Given the description of an element on the screen output the (x, y) to click on. 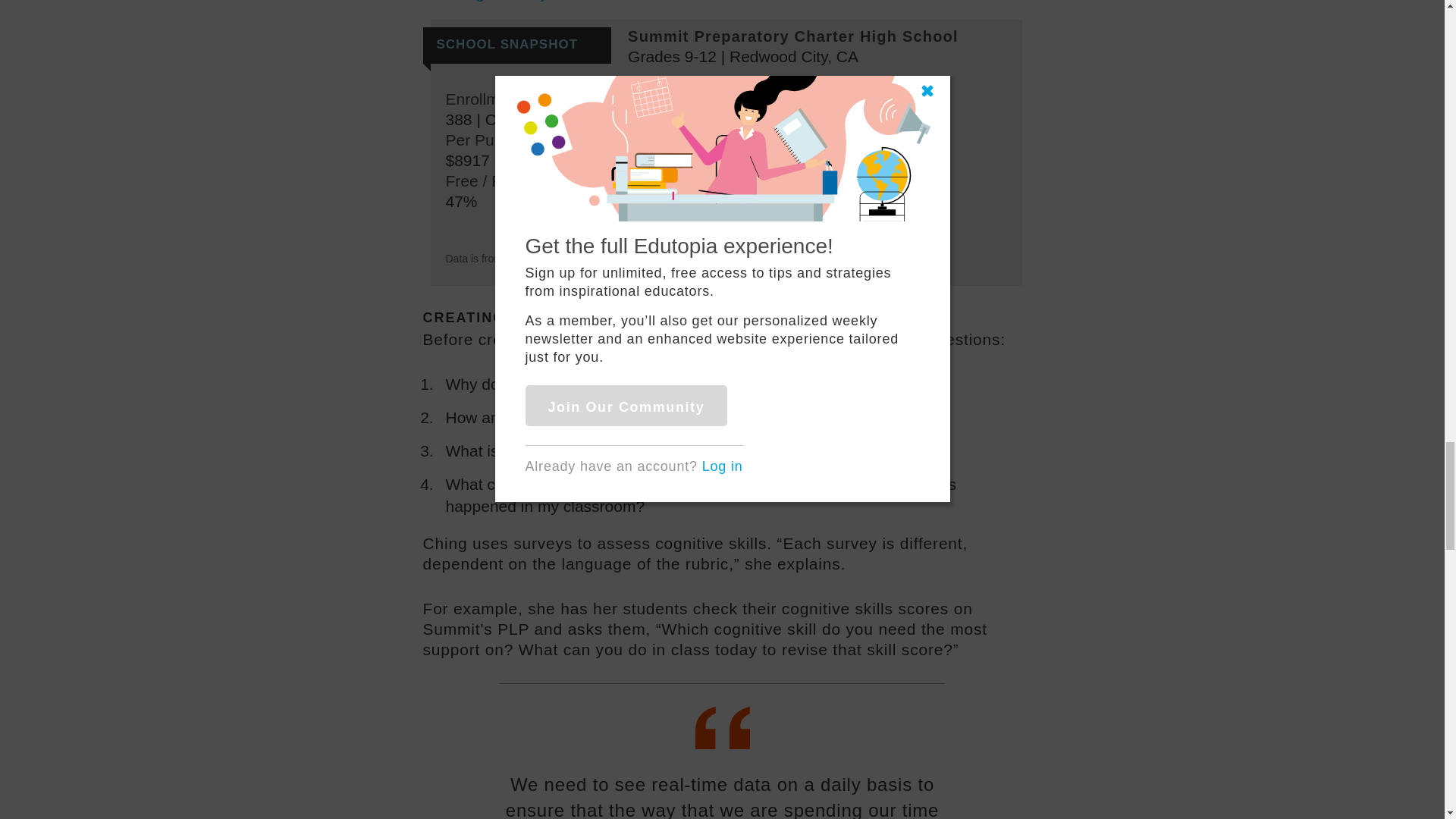
Summit Preparatory Charter High School (792, 36)
Google surveys (507, 0)
